Given the description of an element on the screen output the (x, y) to click on. 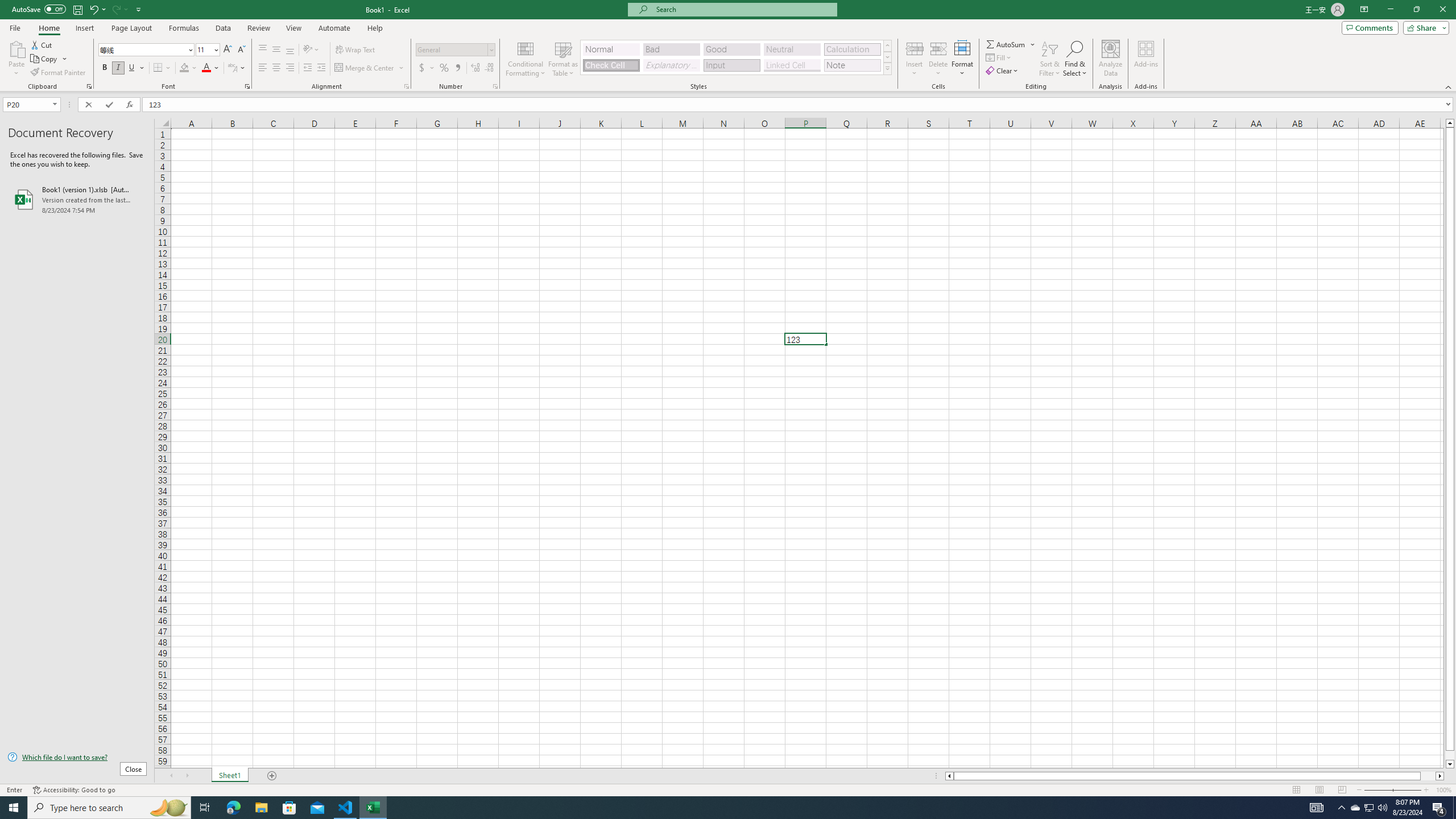
Analyze Data (1110, 58)
Top Align (262, 49)
Restore Down (1416, 9)
Align Left (262, 67)
Zoom Out (1377, 790)
Zoom (1392, 790)
File Tab (15, 27)
Sort & Filter (1049, 58)
Check Cell (611, 65)
Format Painter (58, 72)
Row up (887, 45)
Home (48, 28)
Clear (1003, 69)
